Given the description of an element on the screen output the (x, y) to click on. 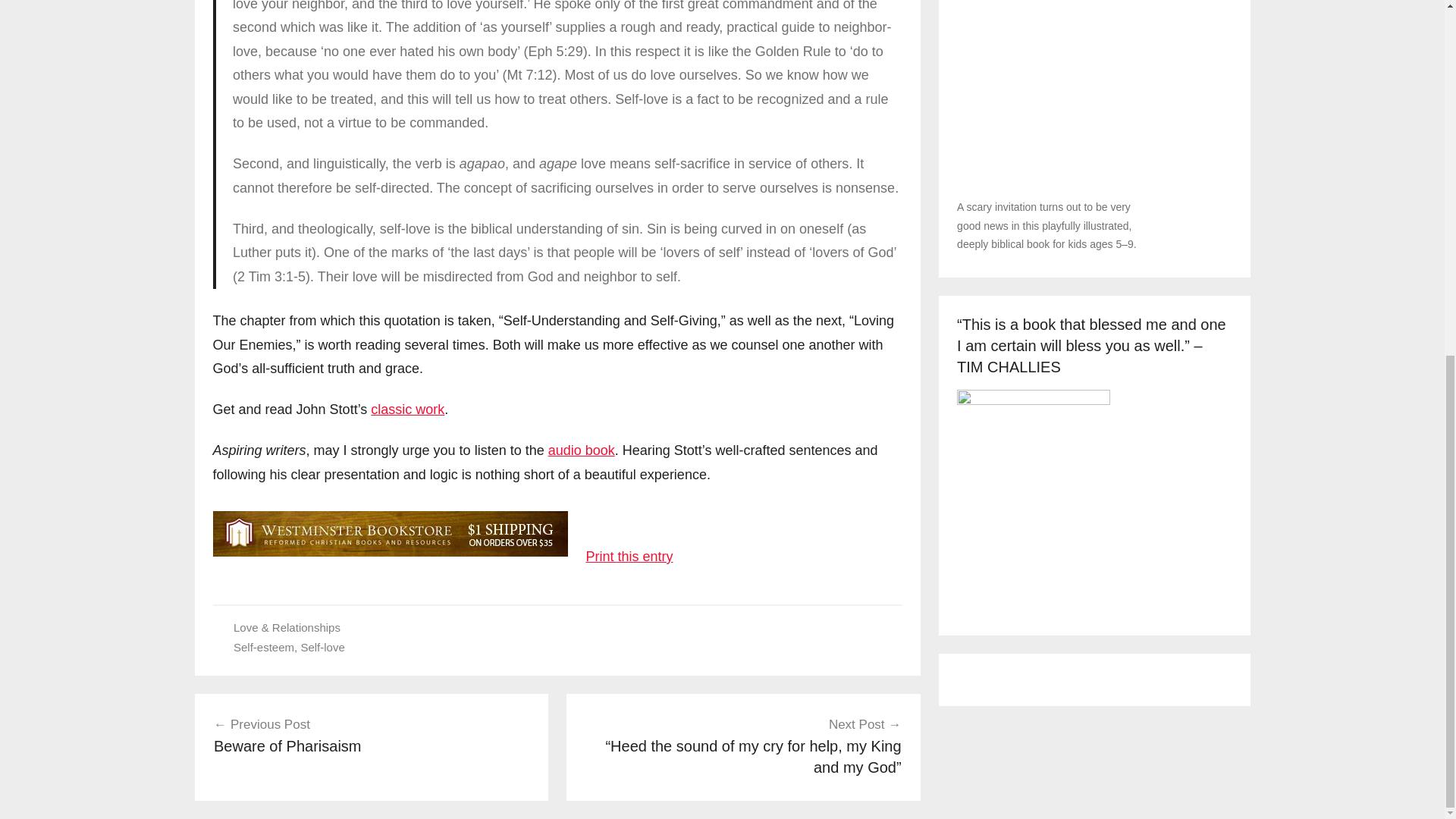
Self-esteem (263, 646)
Print this entry (628, 556)
audio book (371, 735)
Self-love (581, 450)
classic work (321, 646)
WTSBooks (407, 409)
